Given the description of an element on the screen output the (x, y) to click on. 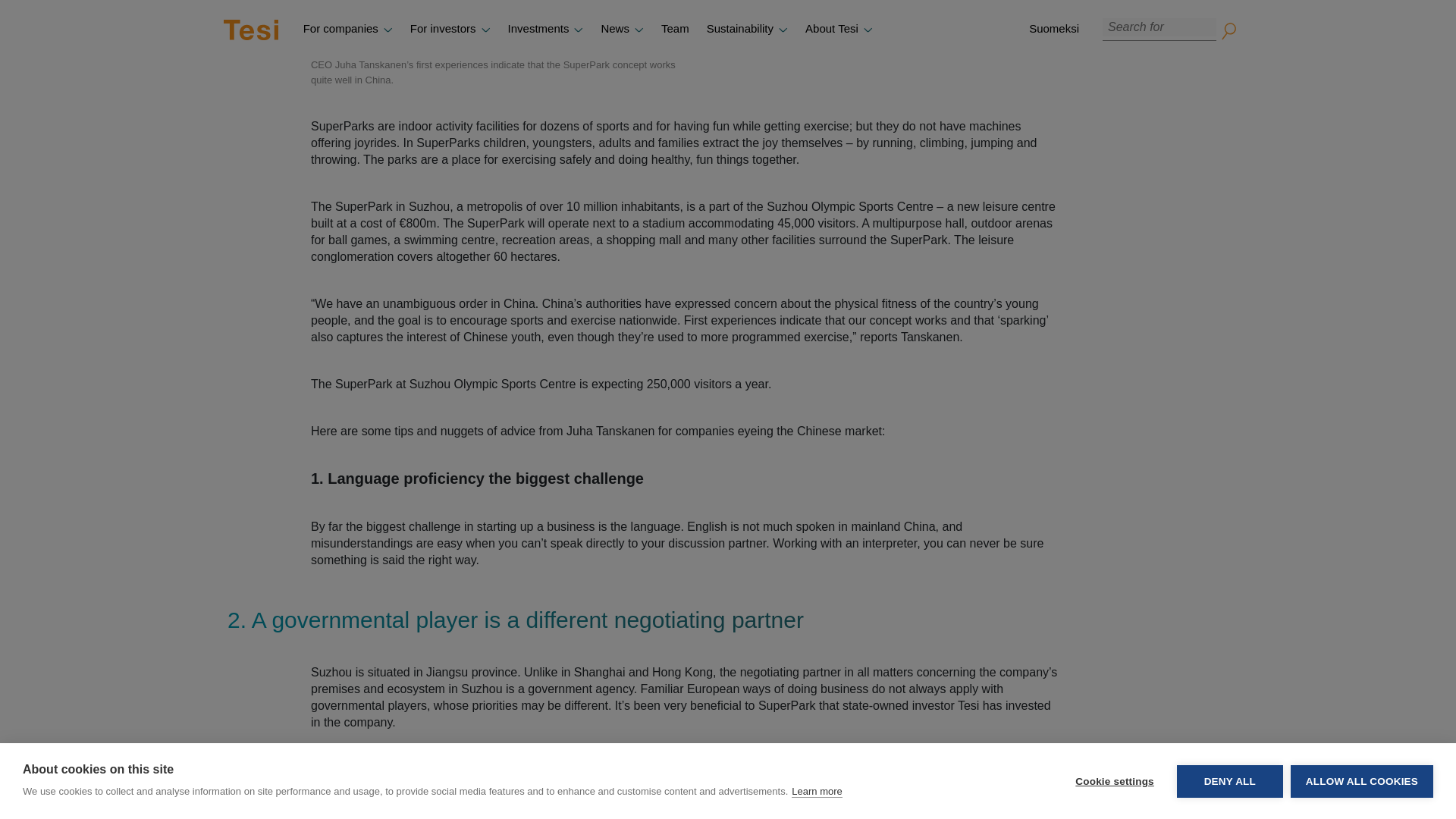
Learn more (816, 2)
